Given the description of an element on the screen output the (x, y) to click on. 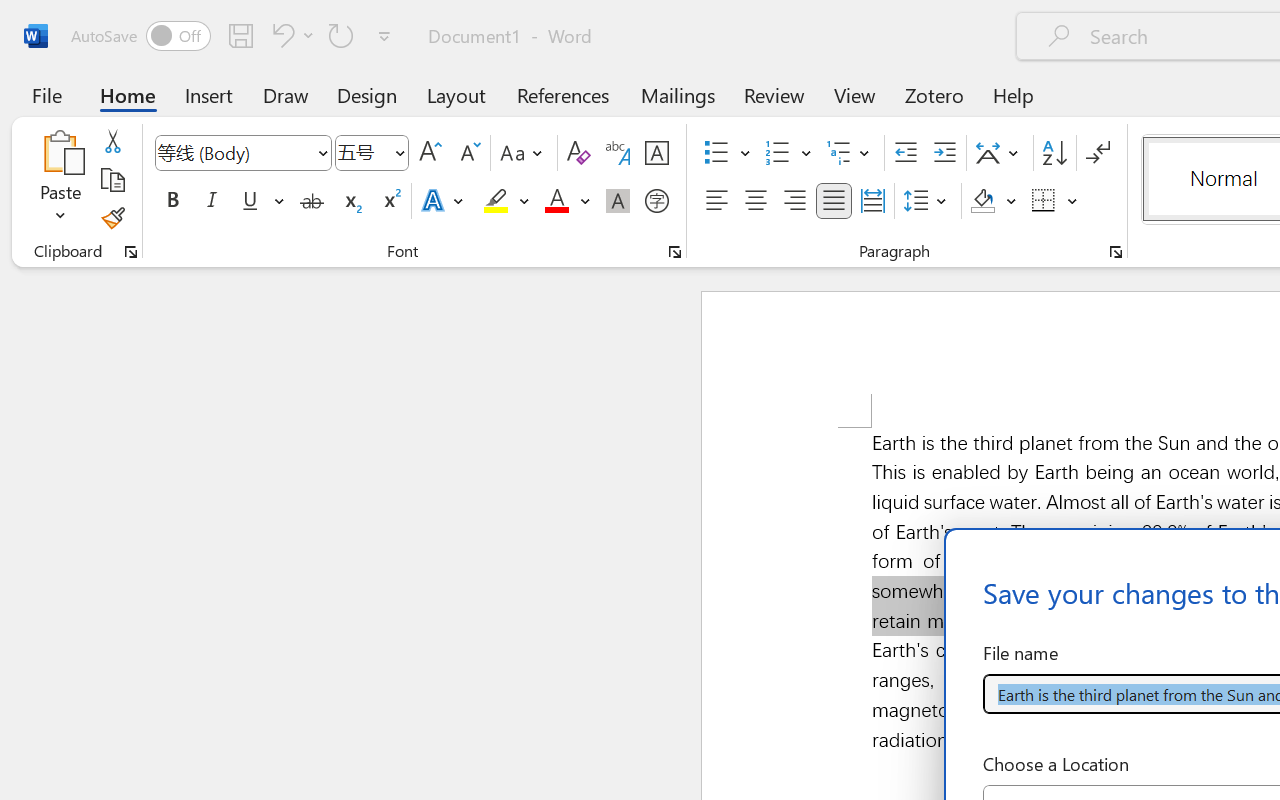
Help (1013, 94)
Copy (112, 179)
Office Clipboard... (131, 252)
Shading (993, 201)
Italic (212, 201)
Subscript (350, 201)
Increase Indent (944, 153)
Align Right (794, 201)
